Given the description of an element on the screen output the (x, y) to click on. 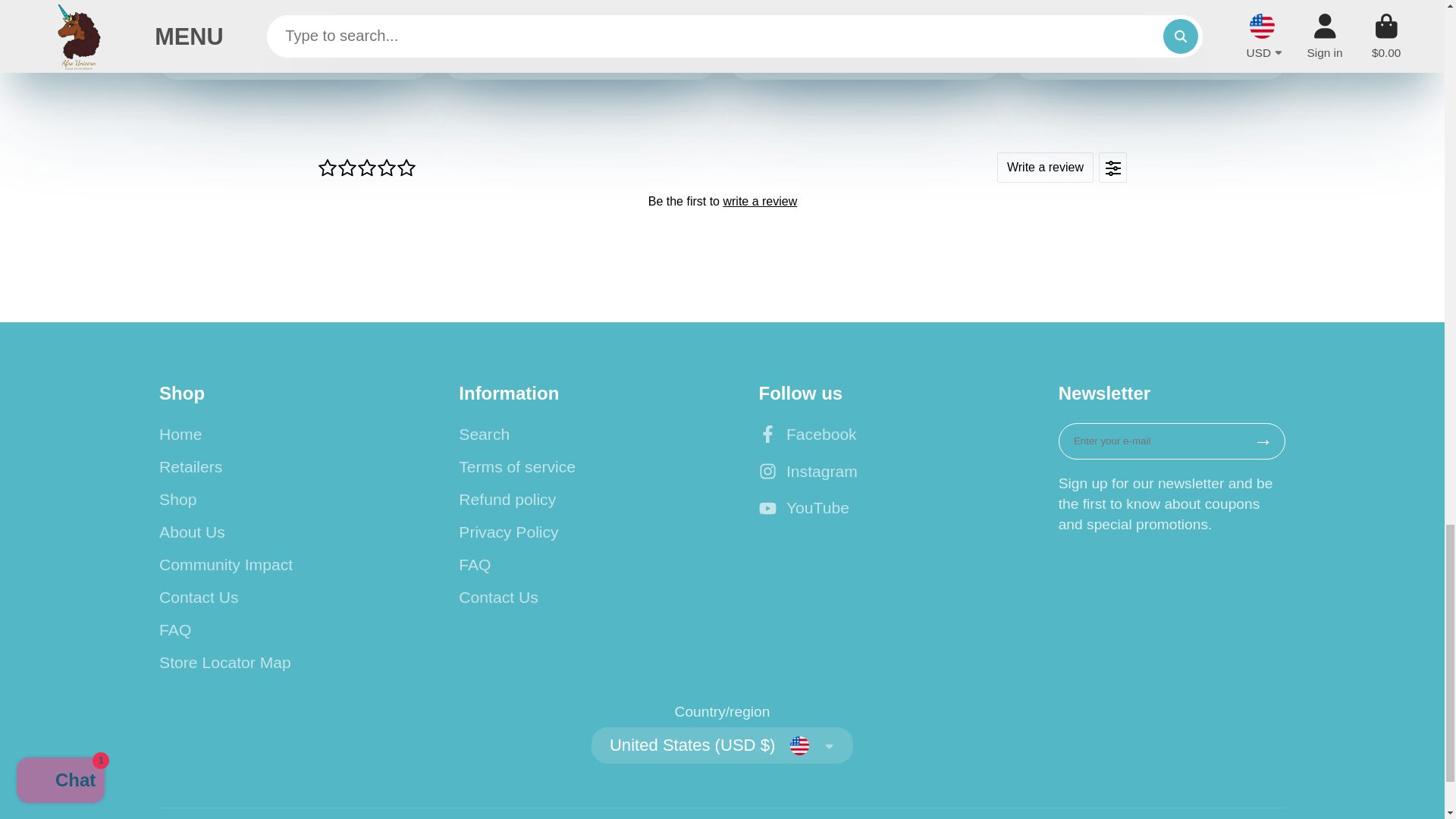
Community Impact (271, 564)
Afro Unicorn Stainless Steel Travel Mug - Vanilla (579, 39)
Refund policy (571, 499)
Afro Unicorn Pin Buttons - Caramel (865, 39)
Store Locator Map (271, 662)
Afro Unicorn Iron On DTF Transfers (1149, 39)
Retailers (271, 466)
FAQ (271, 630)
Home (271, 434)
Contact Us (271, 597)
Search (571, 434)
Terms of service (571, 466)
Cut-out Caramel Stickers (293, 39)
Product reviews widget (722, 200)
Shop (271, 499)
